Given the description of an element on the screen output the (x, y) to click on. 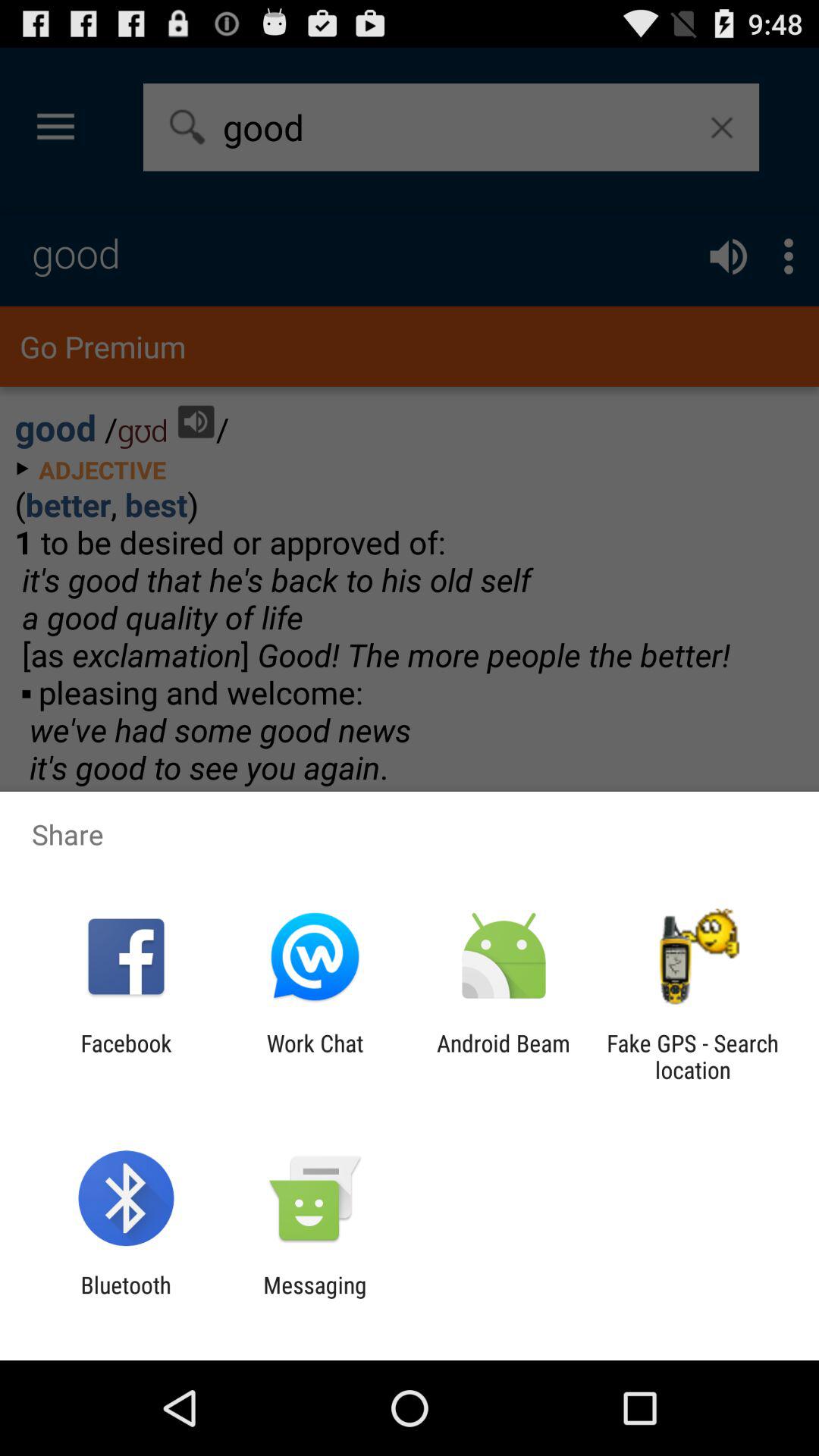
swipe to the android beam icon (503, 1056)
